Given the description of an element on the screen output the (x, y) to click on. 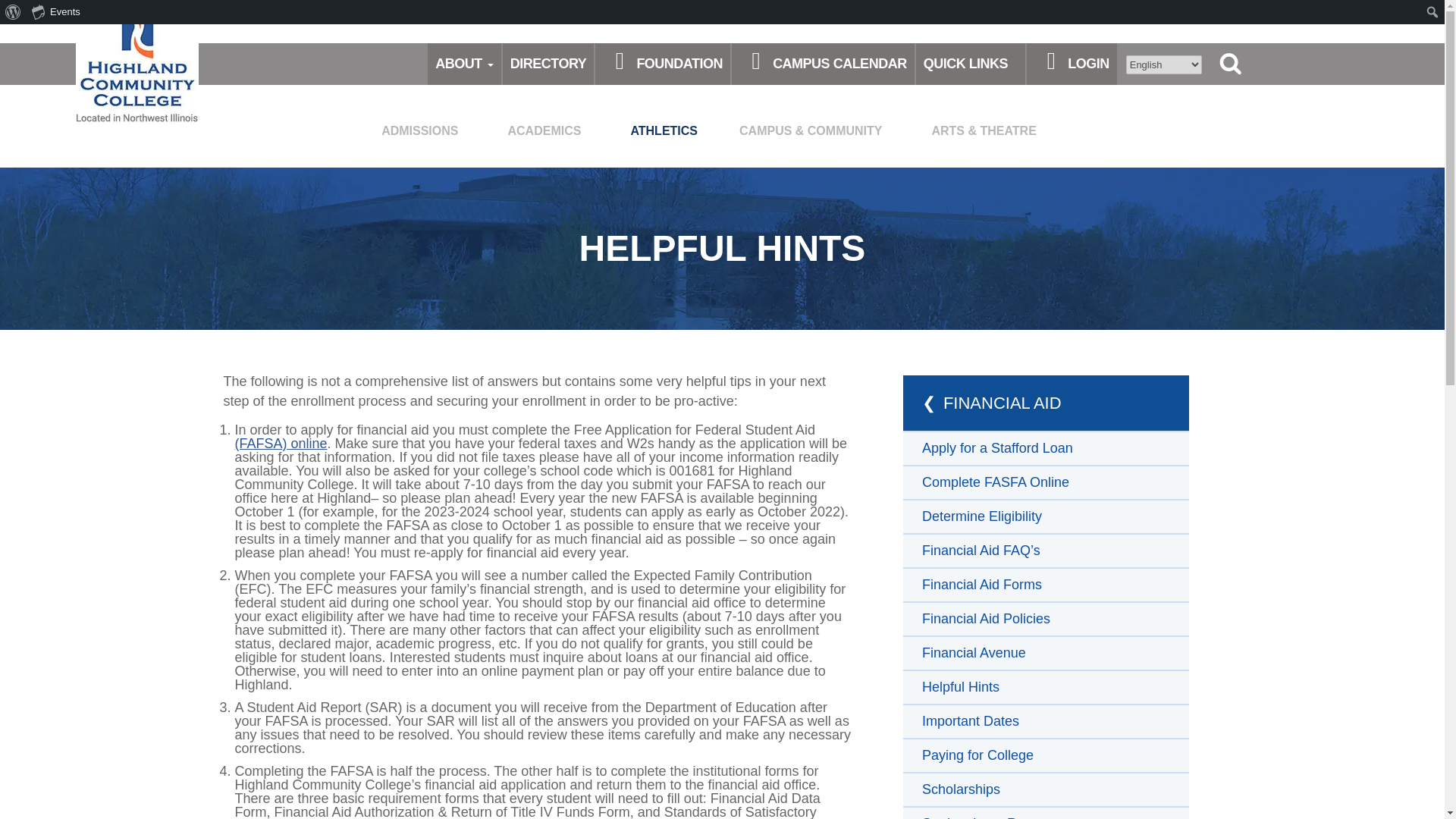
DIRECTORY (548, 64)
LOGIN (1071, 64)
CAMPUS CALENDAR (823, 64)
FOUNDATION (662, 64)
ABOUT (458, 64)
QUICK LINKS (970, 64)
Link to the homepage. (136, 62)
